Given the description of an element on the screen output the (x, y) to click on. 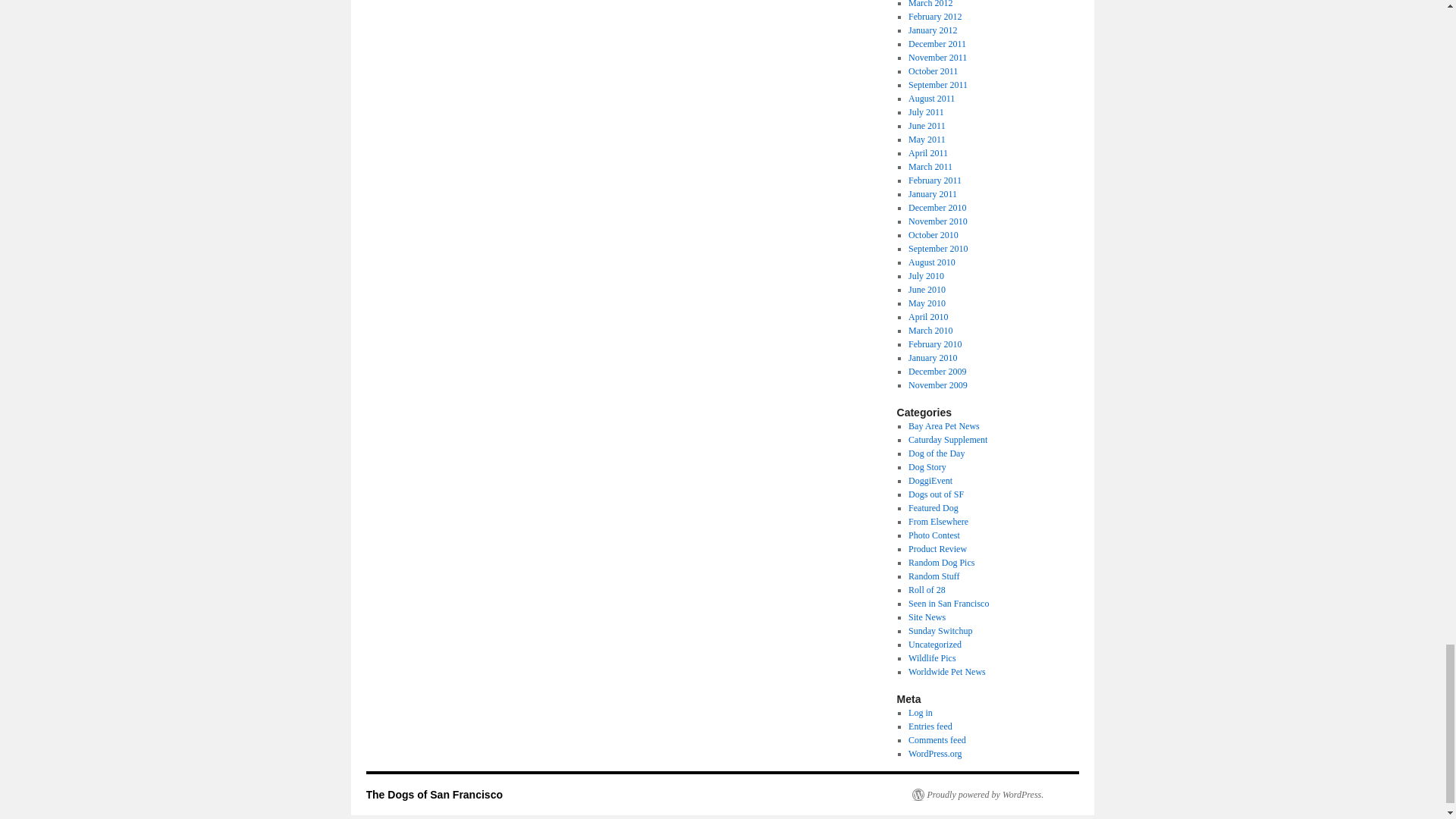
Semantic Personal Publishing Platform (977, 794)
